Given the description of an element on the screen output the (x, y) to click on. 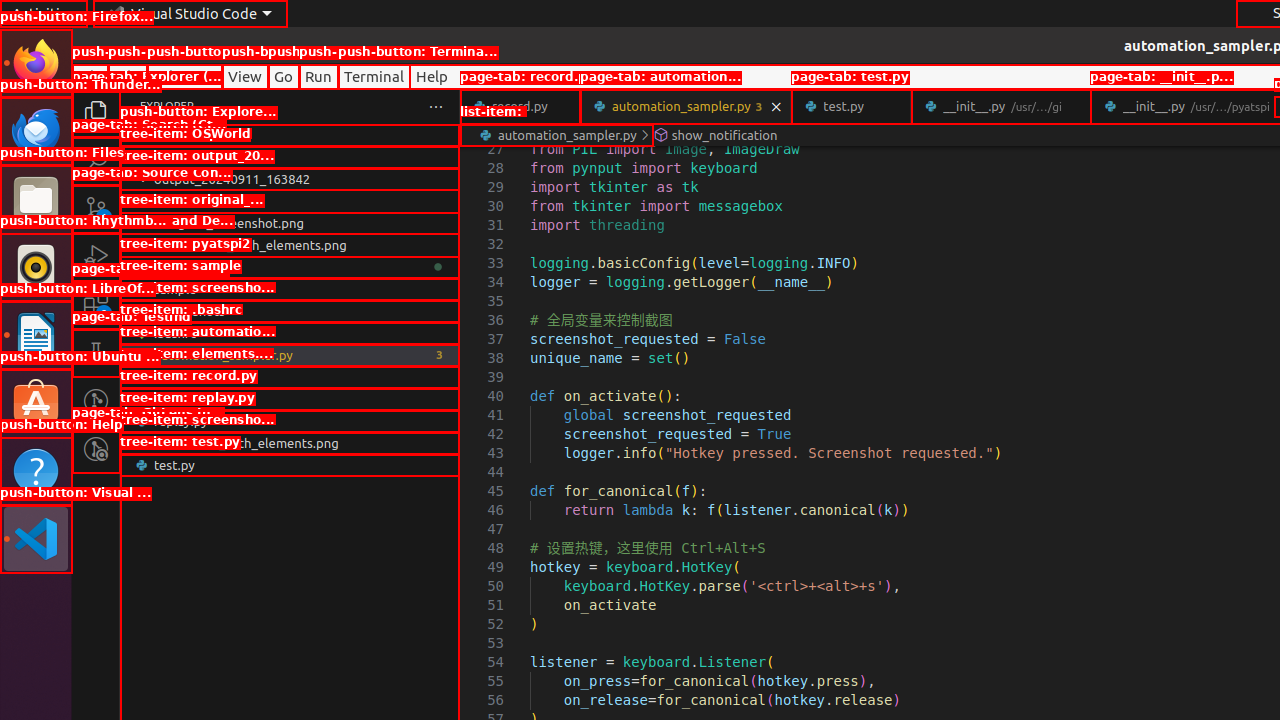
sample Element type: tree-item (289, 289)
Testing Element type: page-tab (96, 353)
record.py Element type: tree-item (289, 399)
Explorer (Ctrl+Shift+E) Element type: page-tab (96, 113)
